Given the description of an element on the screen output the (x, y) to click on. 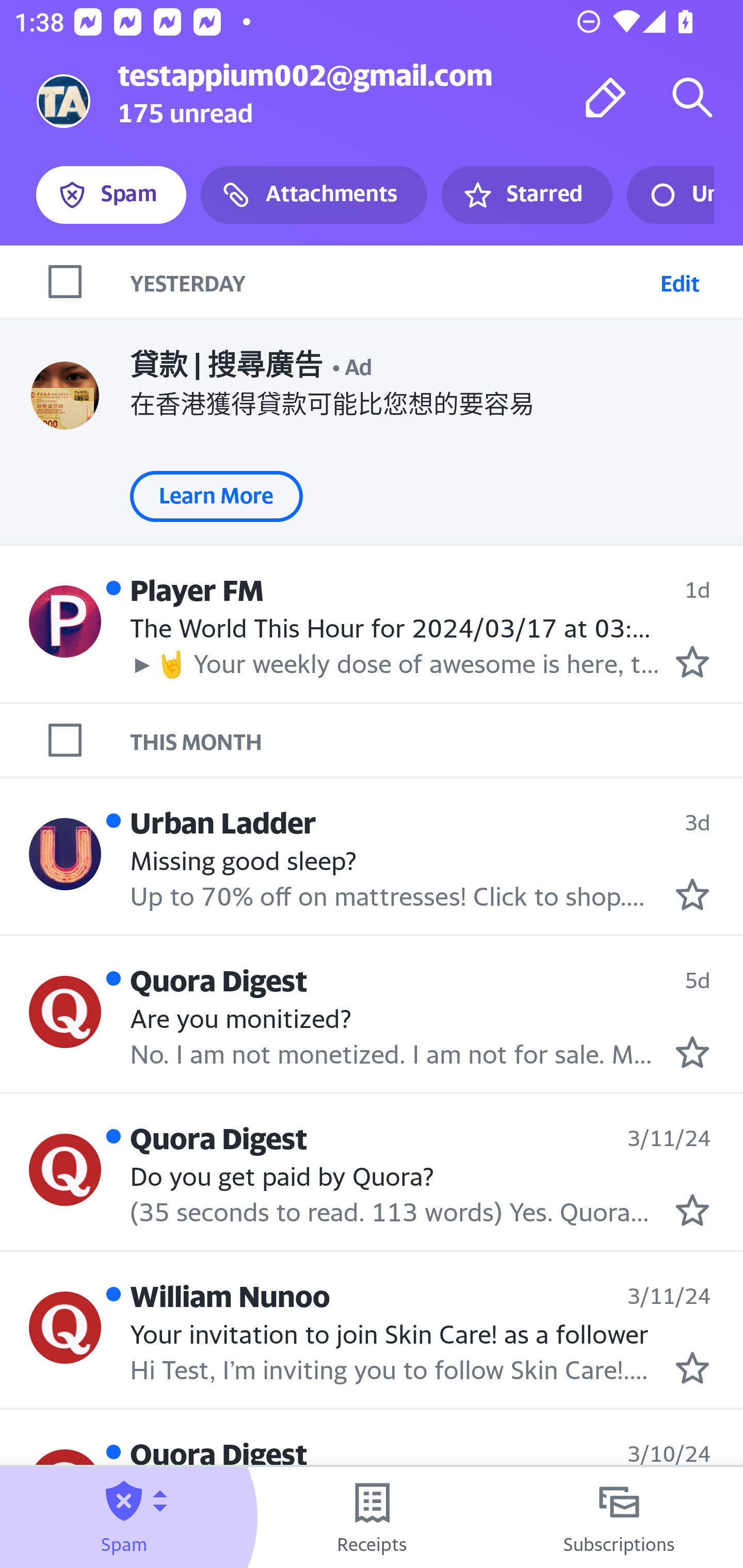
Compose (605, 97)
Search mail (692, 97)
Attachments (313, 195)
Starred (526, 195)
YESTERDAY (391, 281)
Edit Select emails (679, 281)
Profile
Player FM (64, 620)
Mark as starred. (692, 662)
THIS MONTH (436, 740)
Profile
Urban Ladder (64, 854)
Mark as starred. (692, 894)
Profile
Quora Digest (64, 1011)
Mark as starred. (692, 1052)
Profile
Quora Digest (64, 1169)
Mark as starred. (692, 1209)
Profile
William Nunoo (64, 1328)
Mark as starred. (692, 1368)
Spam Folder picker (123, 1517)
Receipts (371, 1517)
Subscriptions (619, 1517)
